Given the description of an element on the screen output the (x, y) to click on. 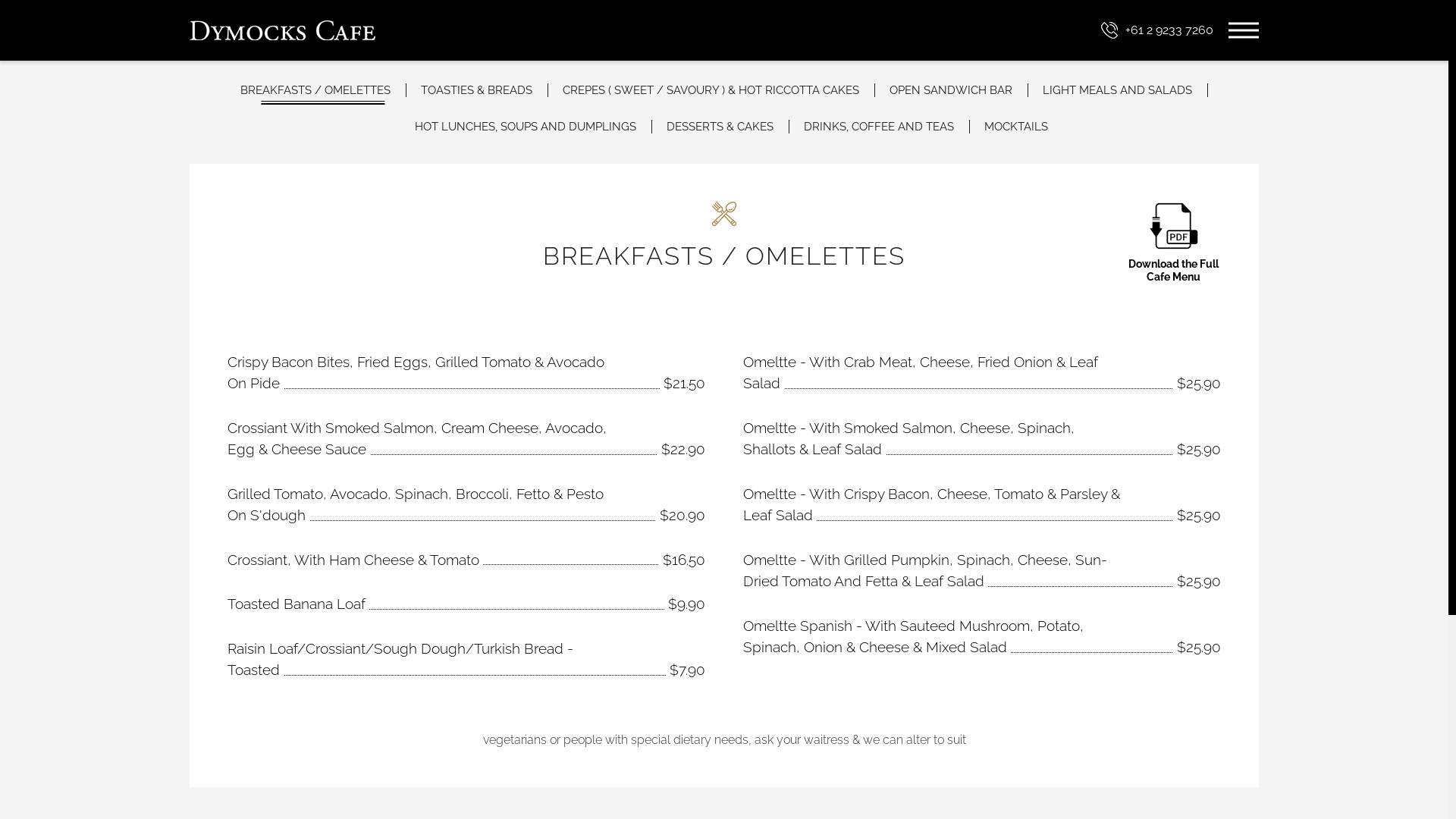
+61 2 9233 7260 Element type: text (1157, 29)
OPEN SANDWICH BAR Element type: text (951, 90)
LIGHT MEALS AND SALADS Element type: text (1118, 90)
MOCKTAILS Element type: text (1008, 126)
DRINKS, COFFEE AND TEAS Element type: text (879, 126)
DESSERTS & CAKES Element type: text (720, 126)
BREAKFASTS / OMELETTES Element type: text (323, 90)
Download the Full Cafe Menu Element type: text (1173, 242)
TOASTIES & BREADS Element type: text (477, 90)
CREPES ( SWEET / SAVOURY ) & HOT RICCOTTA CAKES Element type: text (711, 90)
HOT LUNCHES, SOUPS AND DUMPLINGS Element type: text (526, 126)
